Given the description of an element on the screen output the (x, y) to click on. 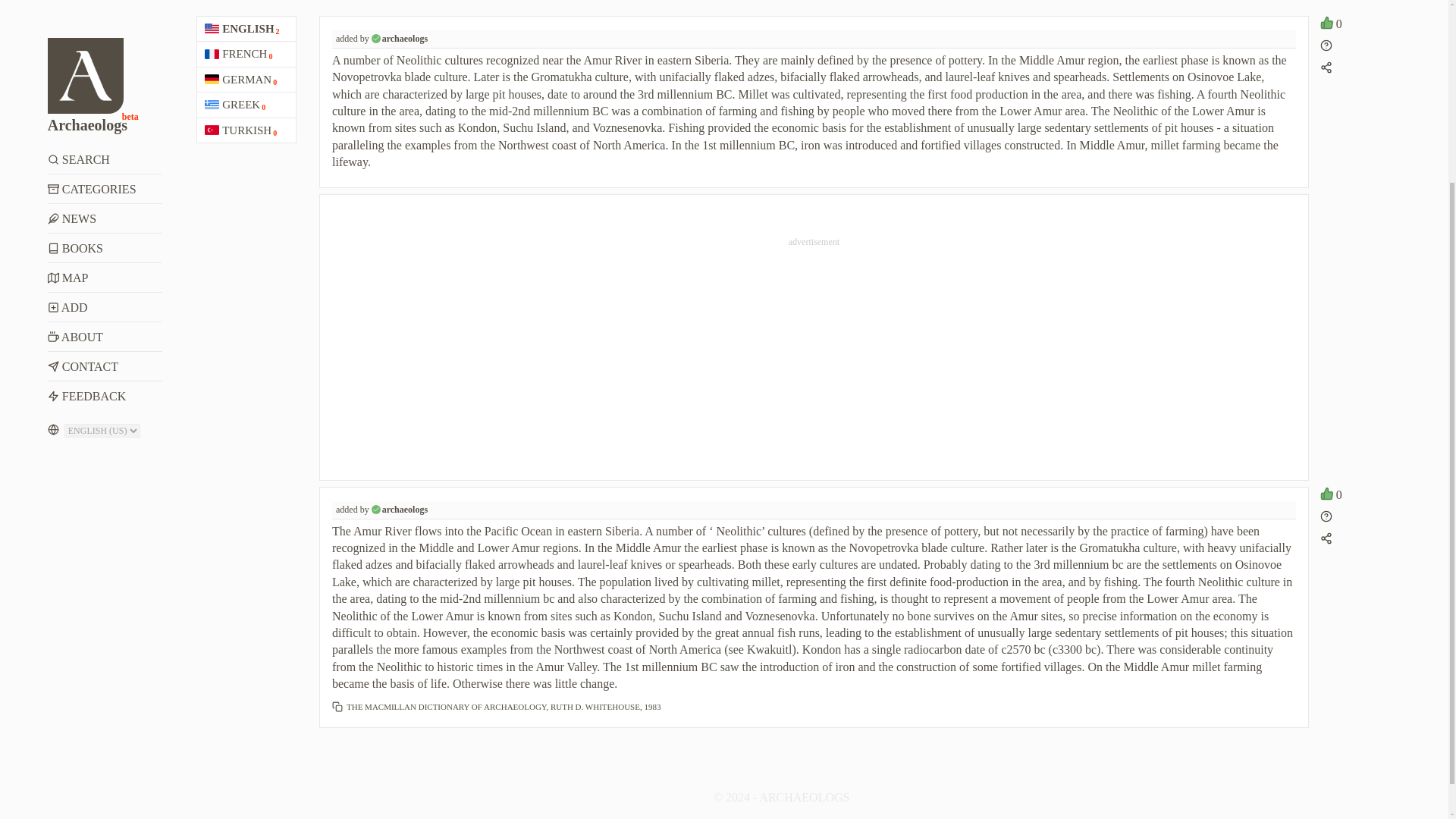
 ABOUT (104, 111)
archaeologs (404, 509)
Is there something wrong? Report us. (1326, 47)
 NEWS (104, 3)
GREEK0 (245, 104)
ENGLISH2 (245, 28)
archaeologs (404, 38)
 MAP (104, 51)
Is there something wrong? Report us. (1326, 517)
